Given the description of an element on the screen output the (x, y) to click on. 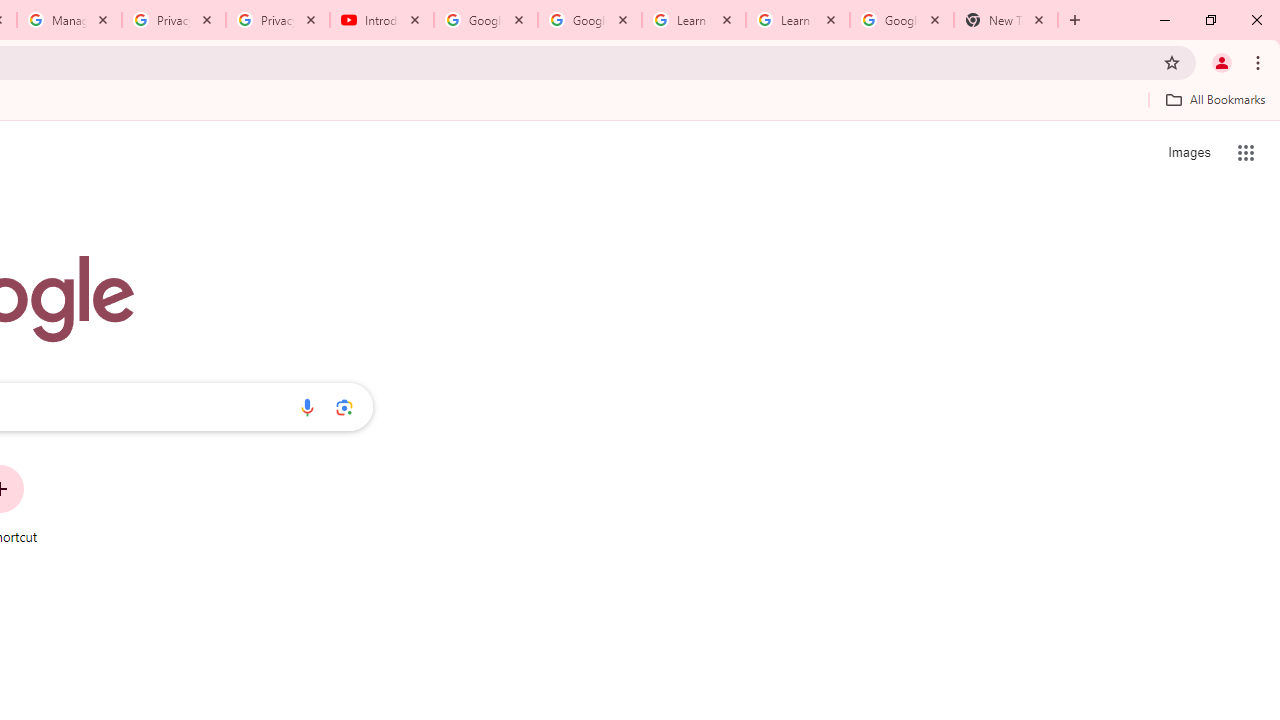
Google Account Help (485, 20)
Google Account (901, 20)
Google Account Help (589, 20)
New Tab (1005, 20)
Introduction | Google Privacy Policy - YouTube (381, 20)
